Given the description of an element on the screen output the (x, y) to click on. 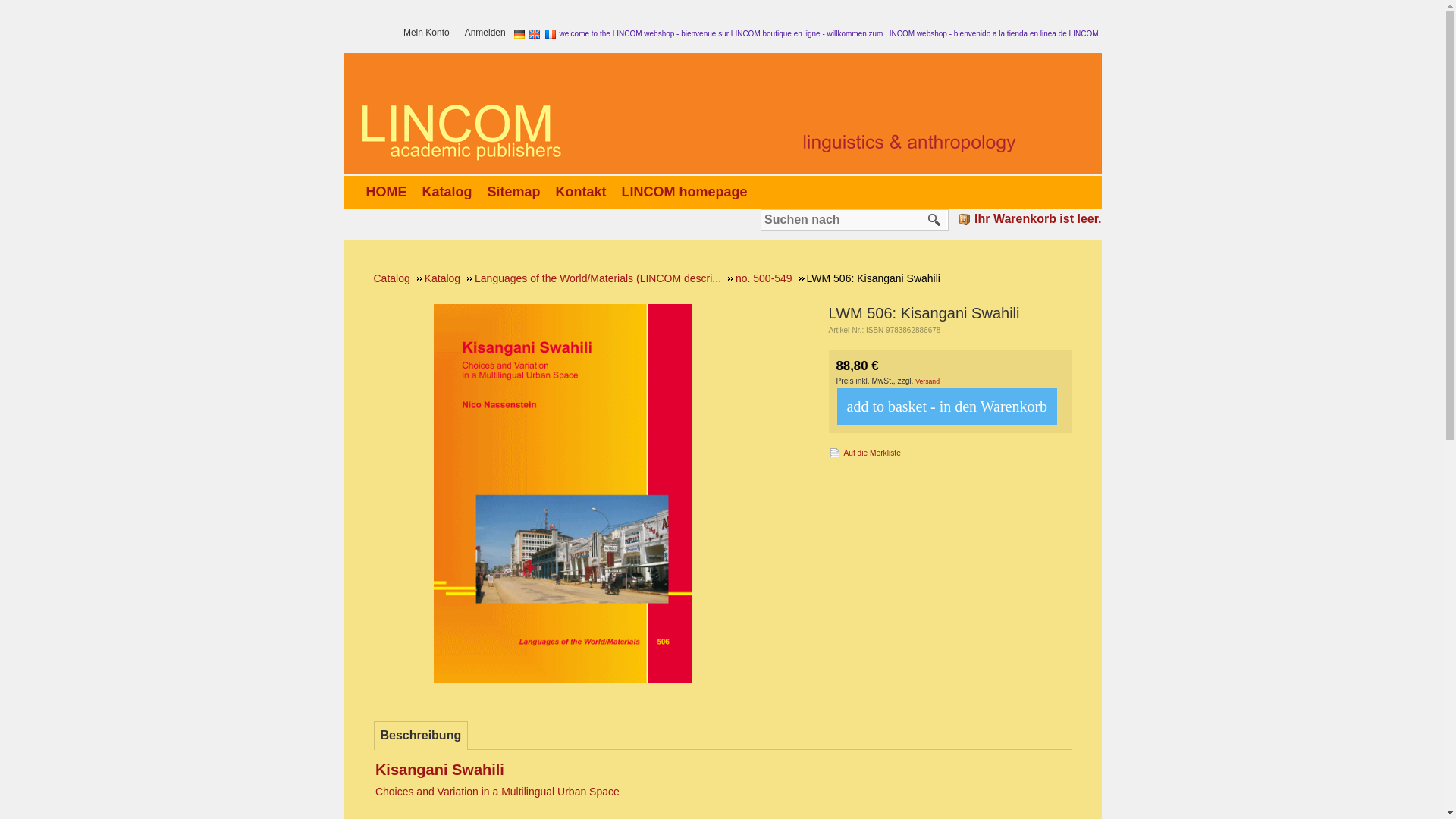
Anmelden (488, 32)
Katalog (450, 190)
Suche starten (934, 219)
Mein Konto (430, 32)
HOME (389, 190)
Auf die Merkliste (863, 452)
